Given the description of an element on the screen output the (x, y) to click on. 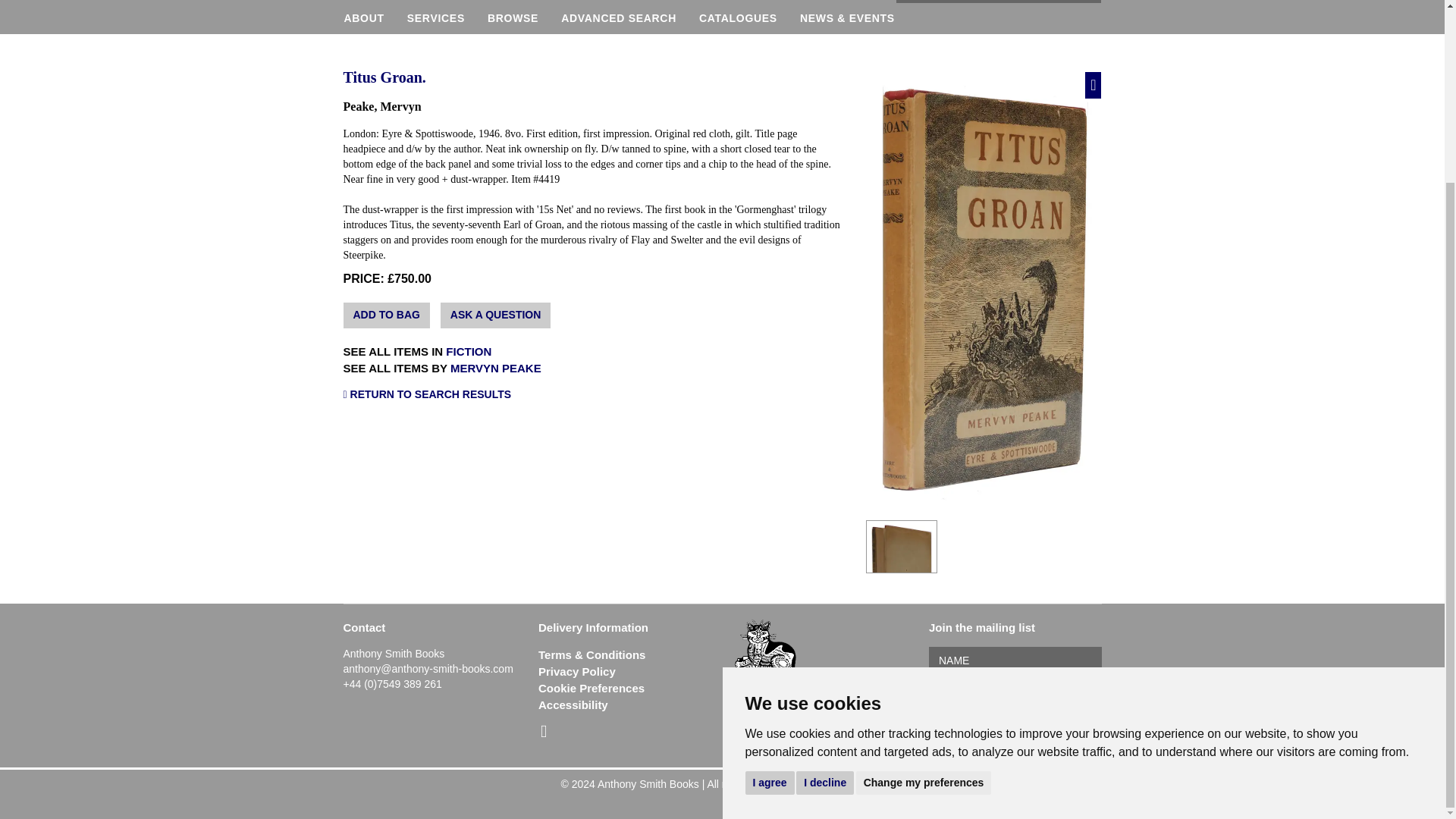
ADD TO BAG (385, 315)
CATALOGUES (738, 18)
RETURN TO SEARCH RESULTS (591, 394)
BROWSE (513, 18)
Accessibility (573, 704)
I agree (768, 556)
ABOUT (369, 18)
I decline (824, 556)
SUBMIT SEARCH (1087, 1)
Site by Bibliopolis (841, 784)
ASK A QUESTION (496, 315)
Change my preferences (923, 556)
Cookie Preferences (591, 687)
Delivery Information (592, 626)
MERVYN PEAKE (495, 367)
